Given the description of an element on the screen output the (x, y) to click on. 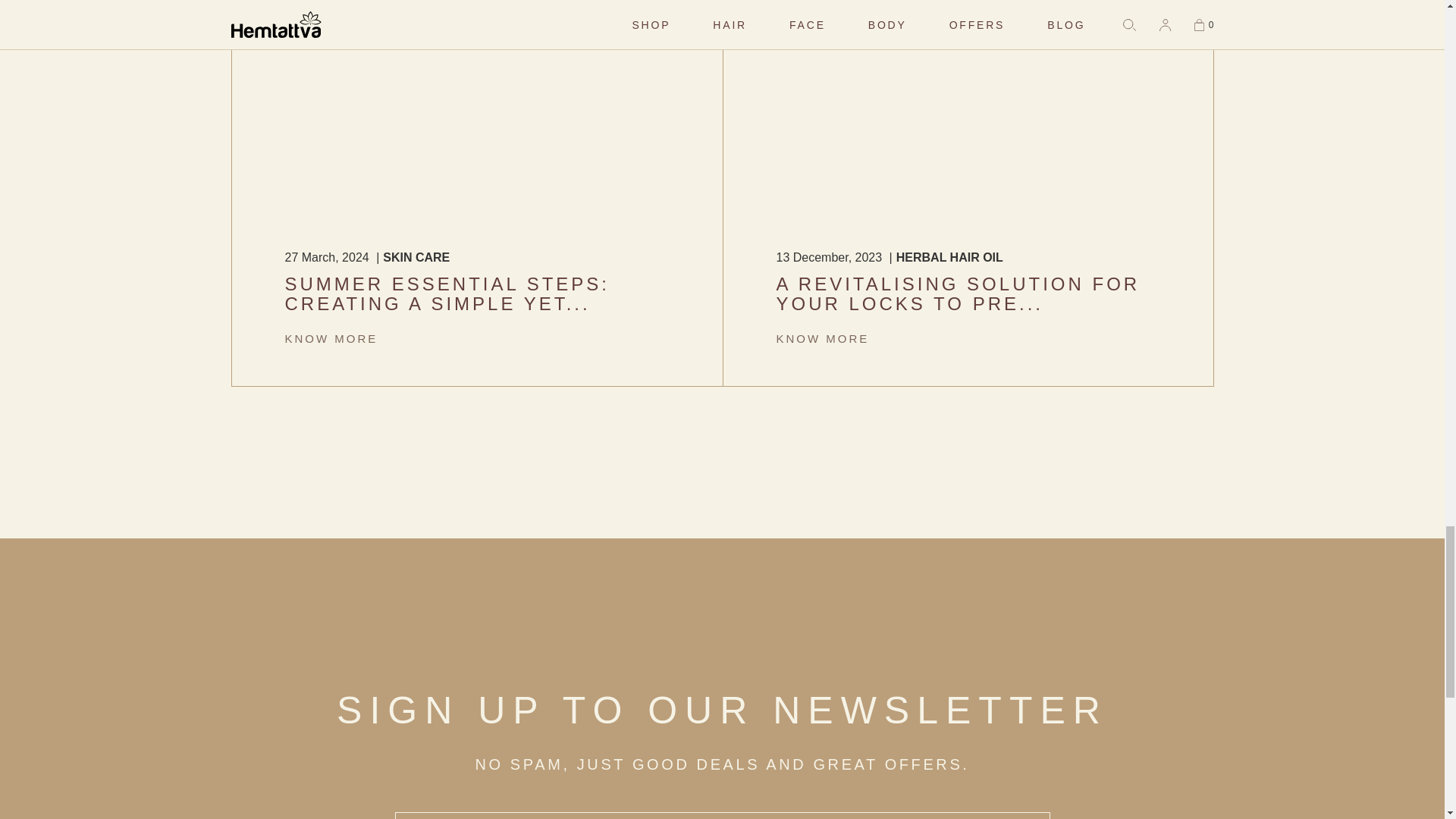
Previous (210, 151)
